Given the description of an element on the screen output the (x, y) to click on. 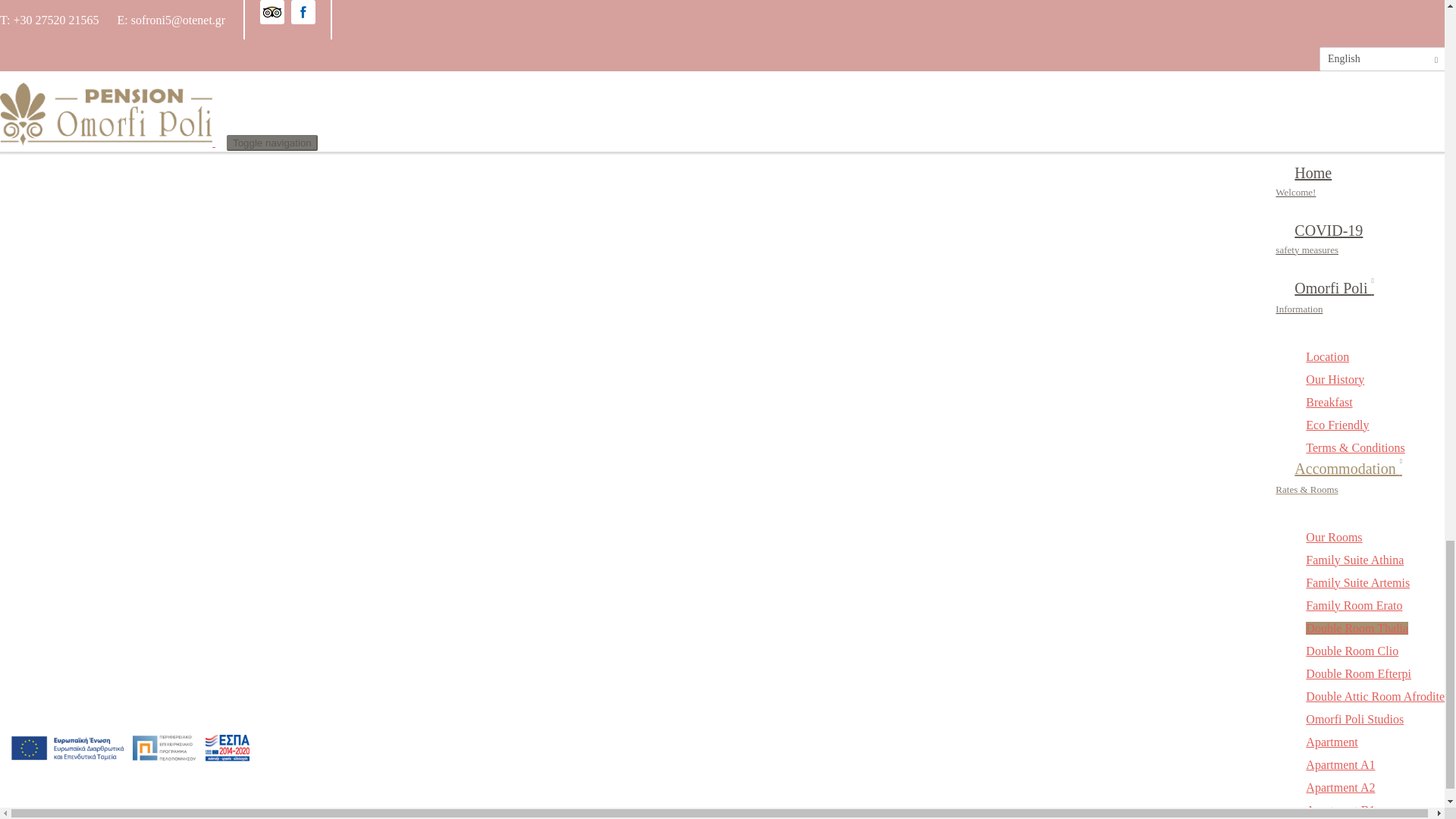
Information (61, 115)
Welcome! (47, 79)
safety measures (59, 97)
